Given the description of an element on the screen output the (x, y) to click on. 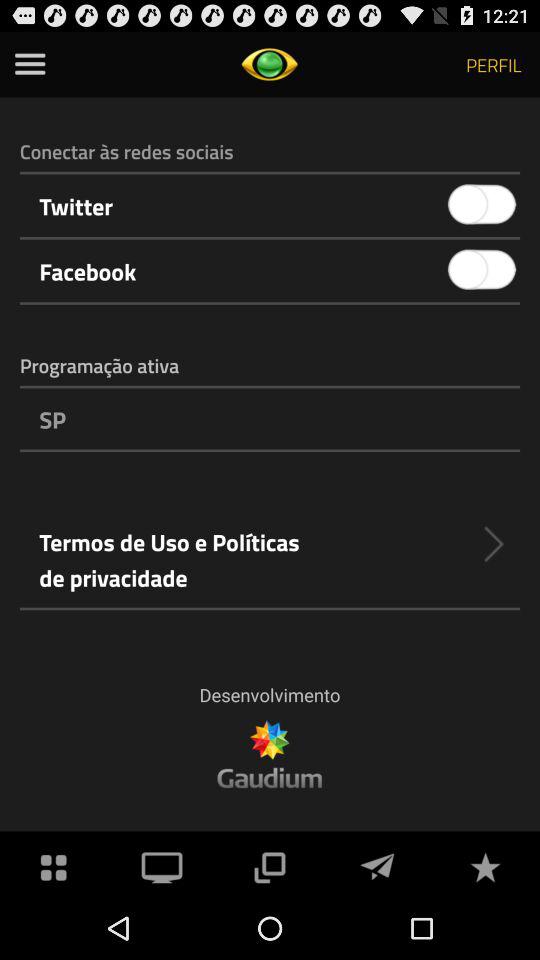
star (485, 865)
